Given the description of an element on the screen output the (x, y) to click on. 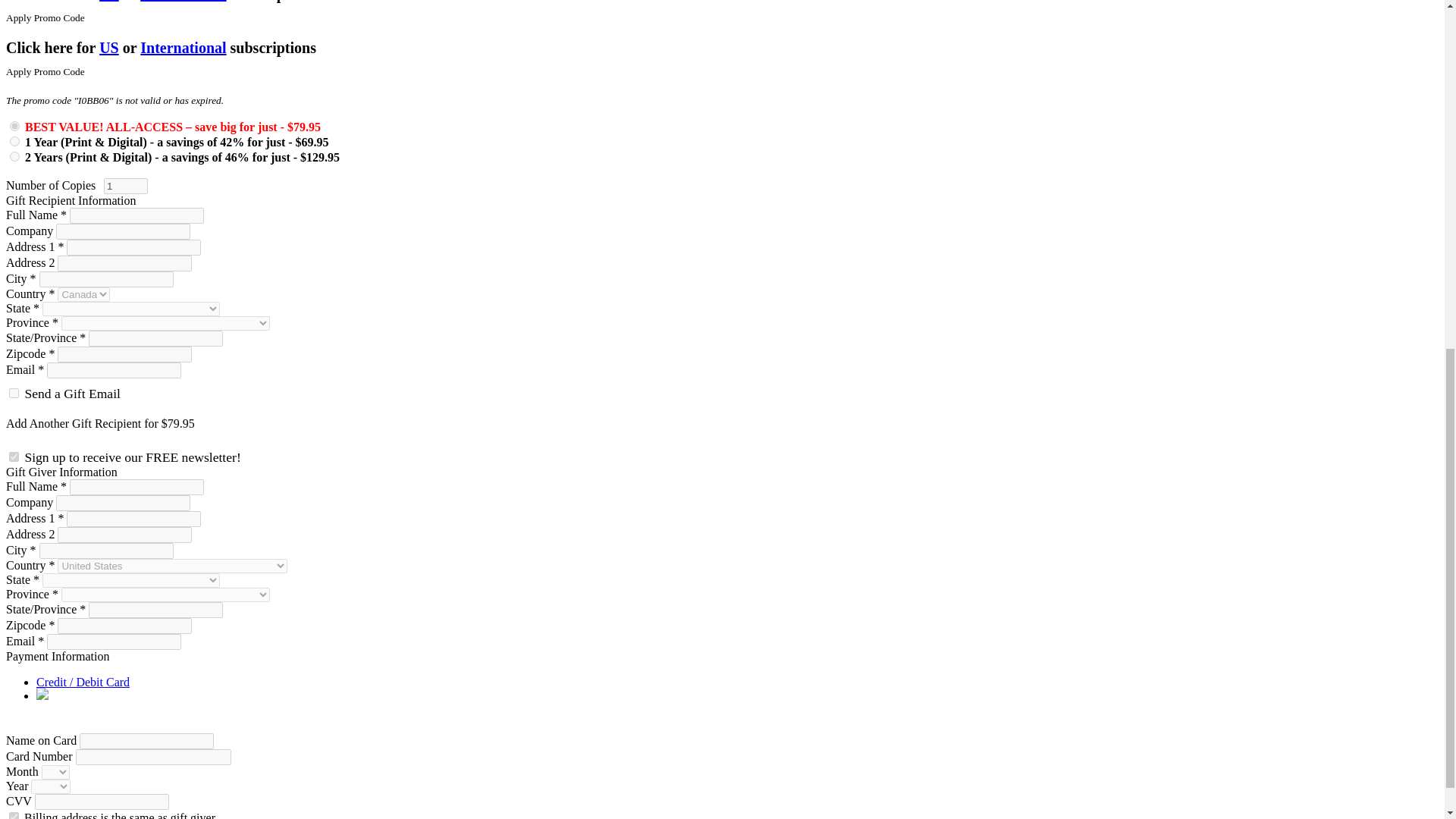
1 (125, 186)
61390 (15, 156)
Apply Promo Code (44, 16)
on (13, 456)
US (109, 1)
61384 (15, 126)
International (182, 47)
US (109, 47)
Apply Promo Code (44, 70)
International (182, 1)
on (13, 393)
61387 (15, 141)
